Given the description of an element on the screen output the (x, y) to click on. 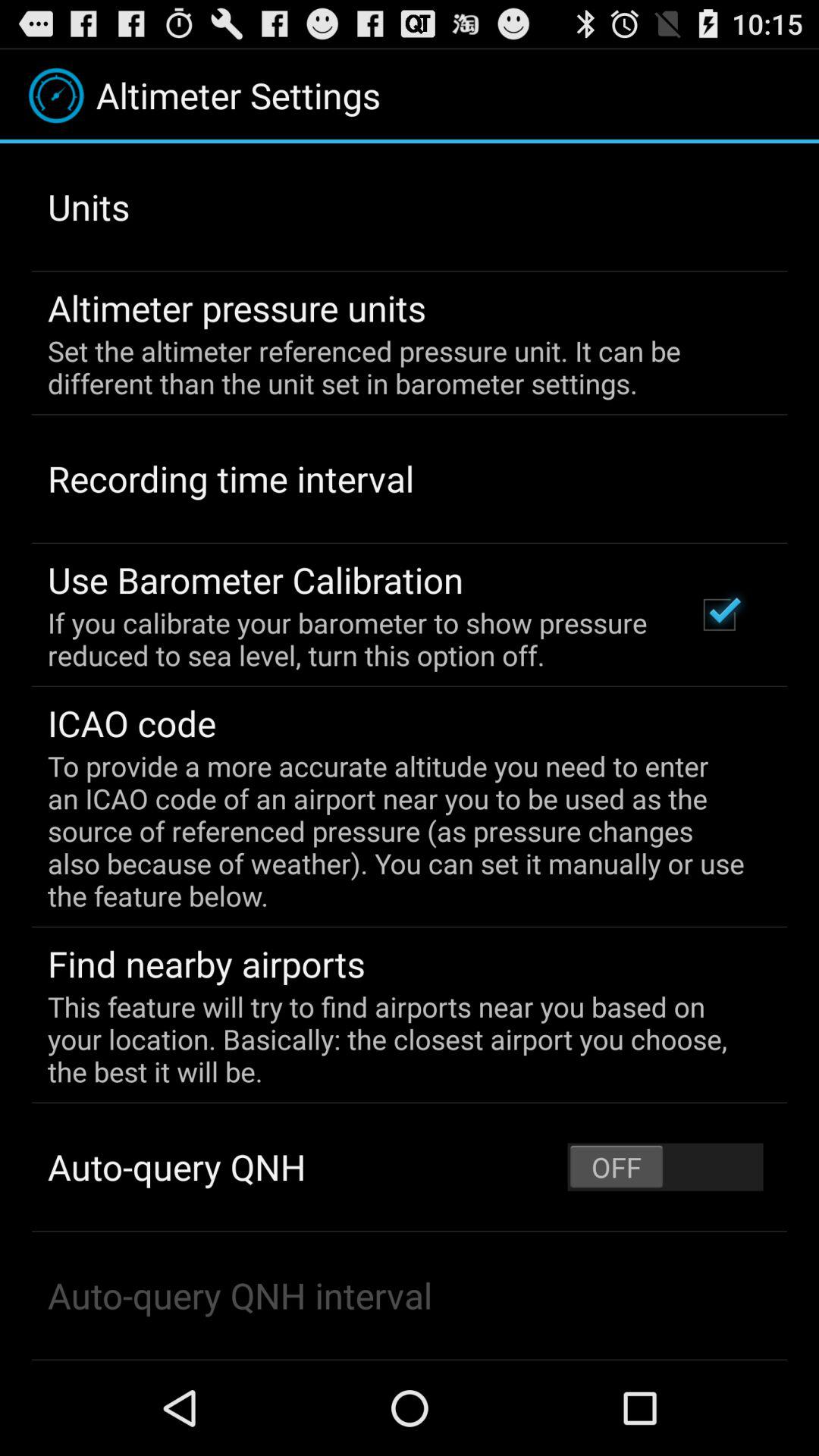
turn on the item below the recording time interval (255, 579)
